Given the description of an element on the screen output the (x, y) to click on. 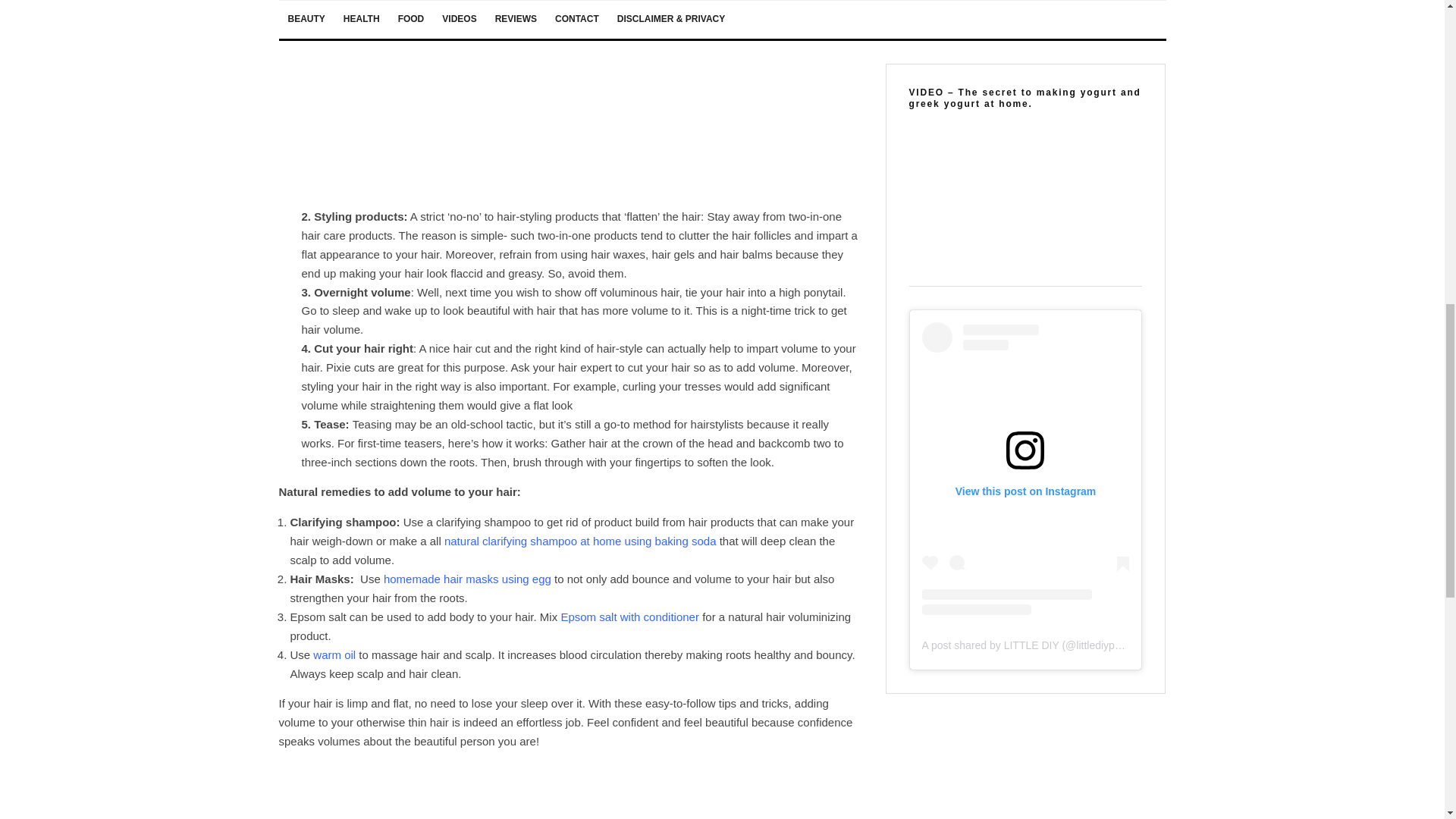
Advertisement (571, 790)
10 Best ways to use Epsom salt in your beauty routine (629, 616)
Natural Baking soda scrub recipes for skin and hair (580, 540)
natural clarifying shampoo at home using baking soda (580, 540)
5 Best Egg hair treatments for hair problems (467, 578)
Advertisement (571, 100)
homemade hair masks using egg (467, 578)
